Given the description of an element on the screen output the (x, y) to click on. 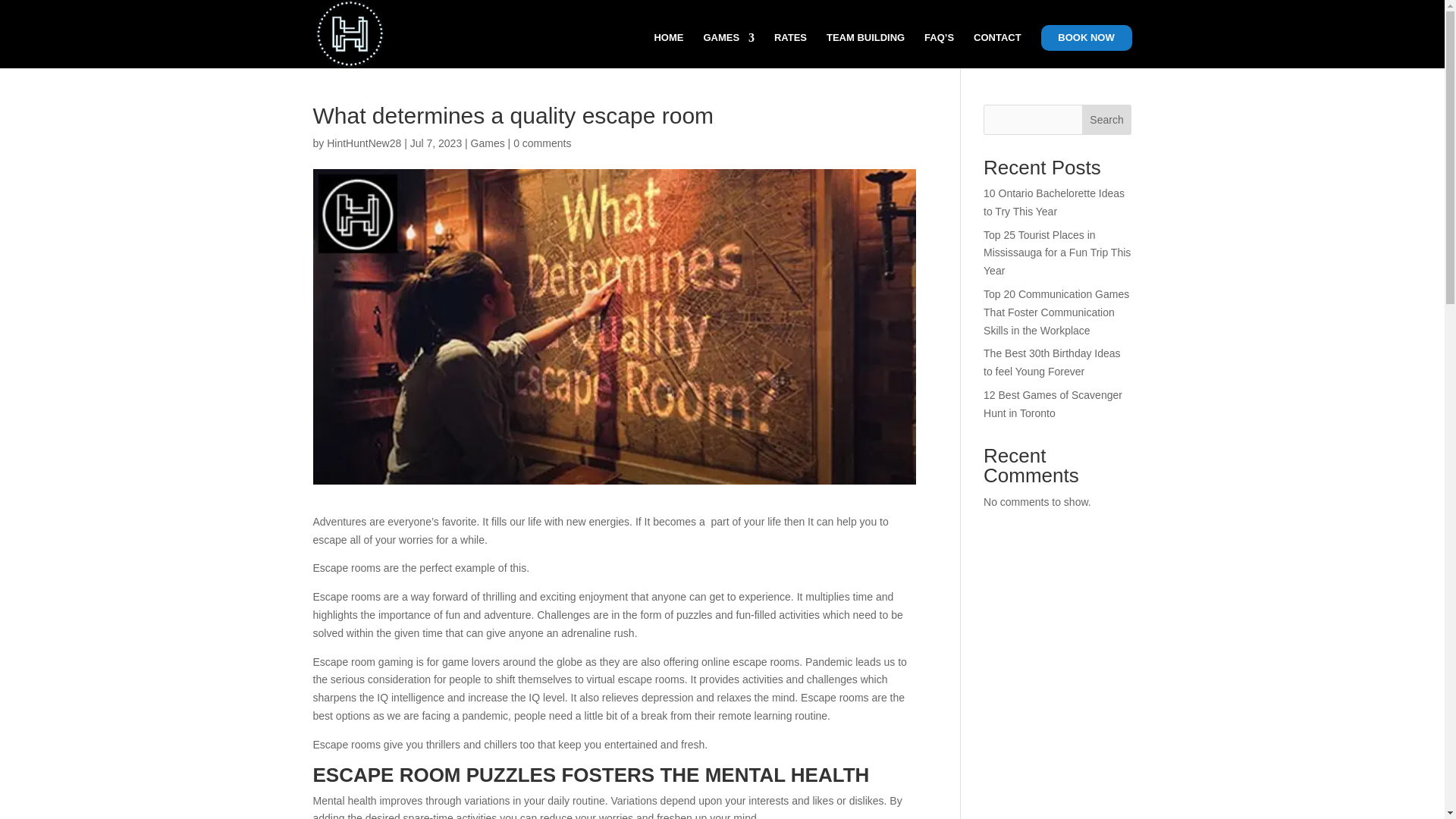
BOOK NOW (1086, 37)
CONTACT (998, 49)
GAMES (728, 49)
TEAM BUILDING (865, 49)
HintHuntNew28 (363, 143)
RATES (790, 49)
12 Best Games of Scavenger Hunt in Toronto (1053, 404)
0 comments (541, 143)
Search (1106, 119)
